Given the description of an element on the screen output the (x, y) to click on. 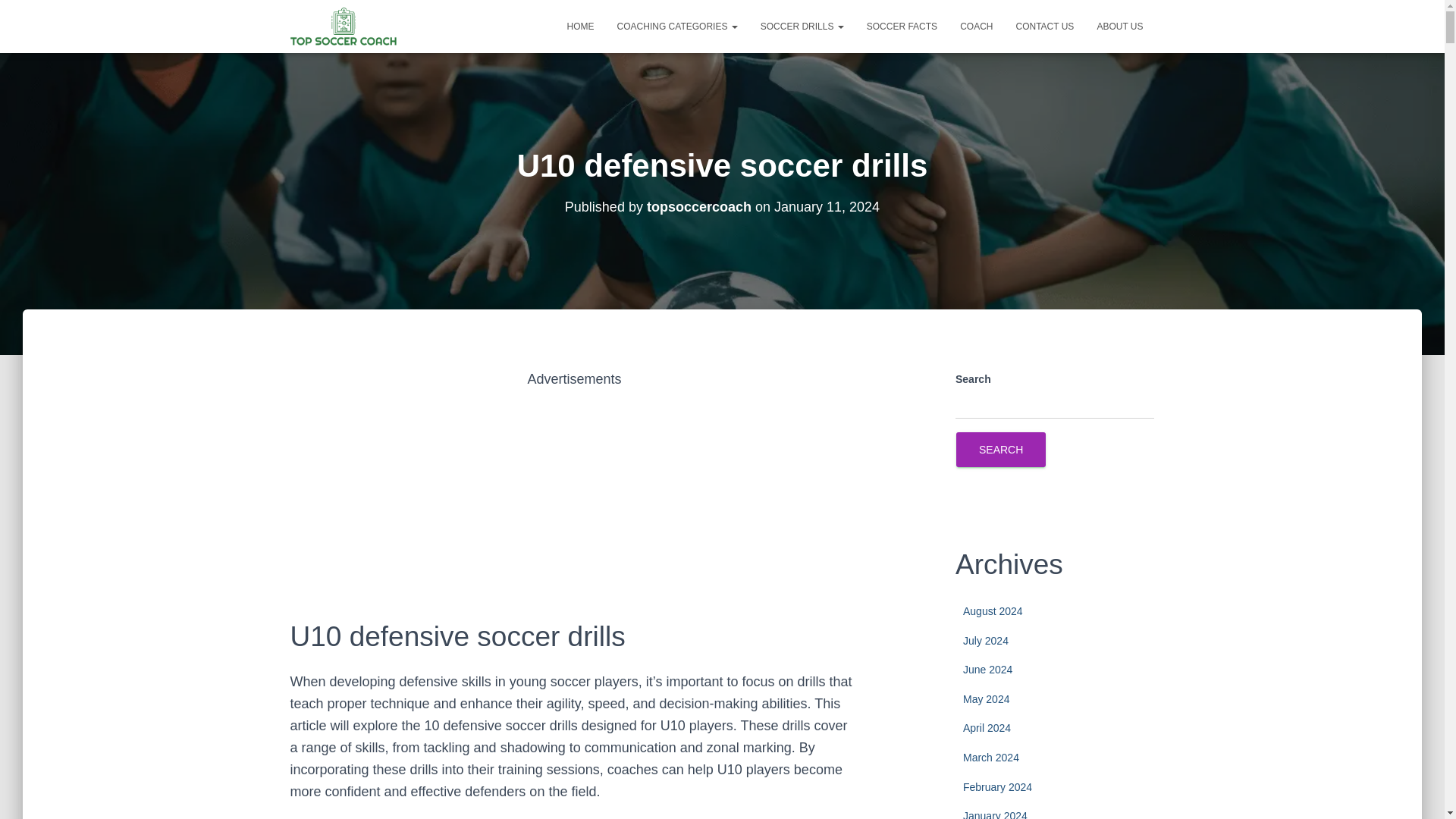
SOCCER DRILLS (802, 26)
Coaching Categories (677, 26)
Coach (976, 26)
SOCCER FACTS (902, 26)
Home (580, 26)
Contact Us (1044, 26)
Soccer Drills (802, 26)
Soccer Facts (902, 26)
COACH (976, 26)
CONTACT US (1044, 26)
